Given the description of an element on the screen output the (x, y) to click on. 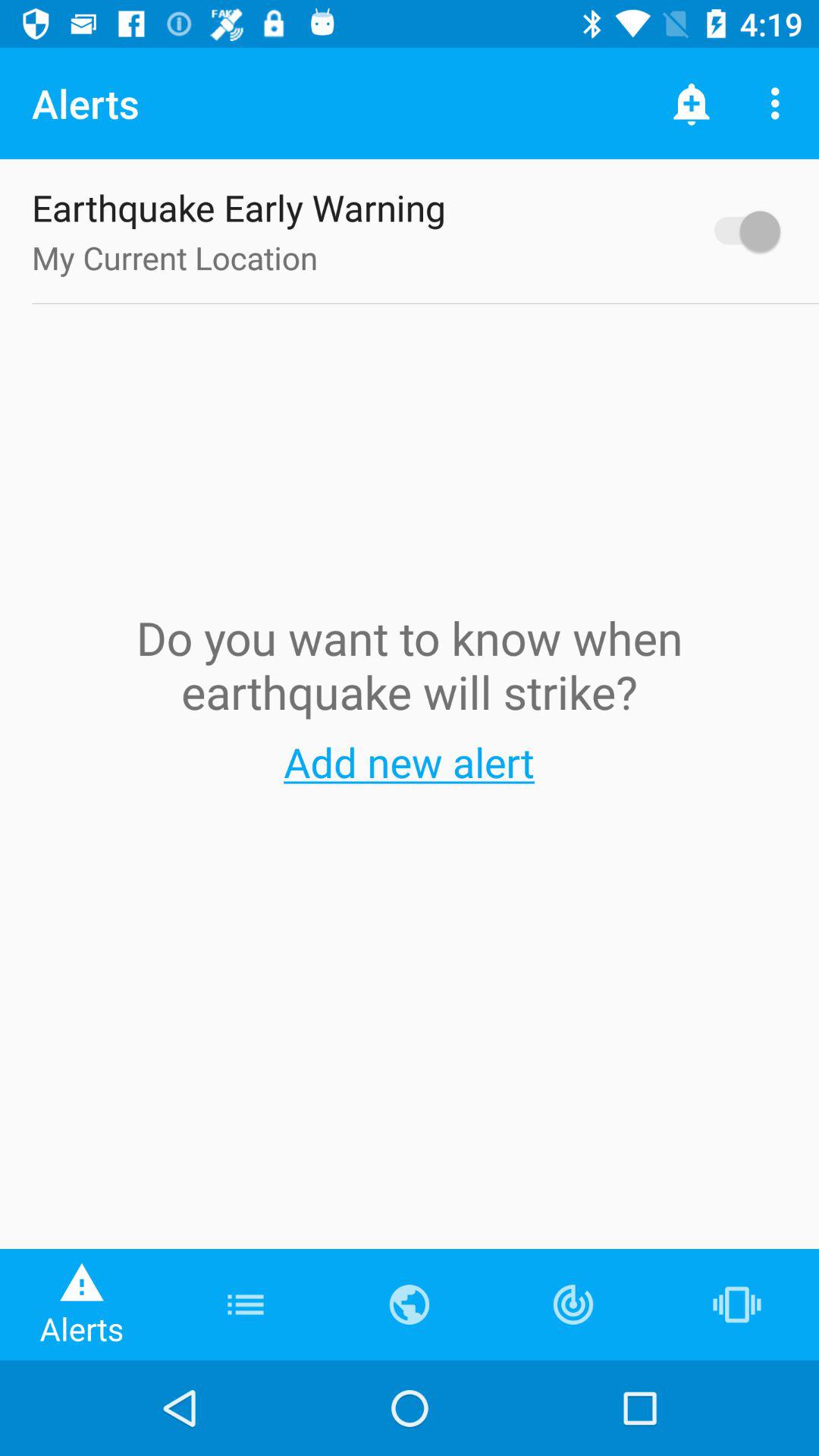
toggle earthquake early warning (739, 231)
